Given the description of an element on the screen output the (x, y) to click on. 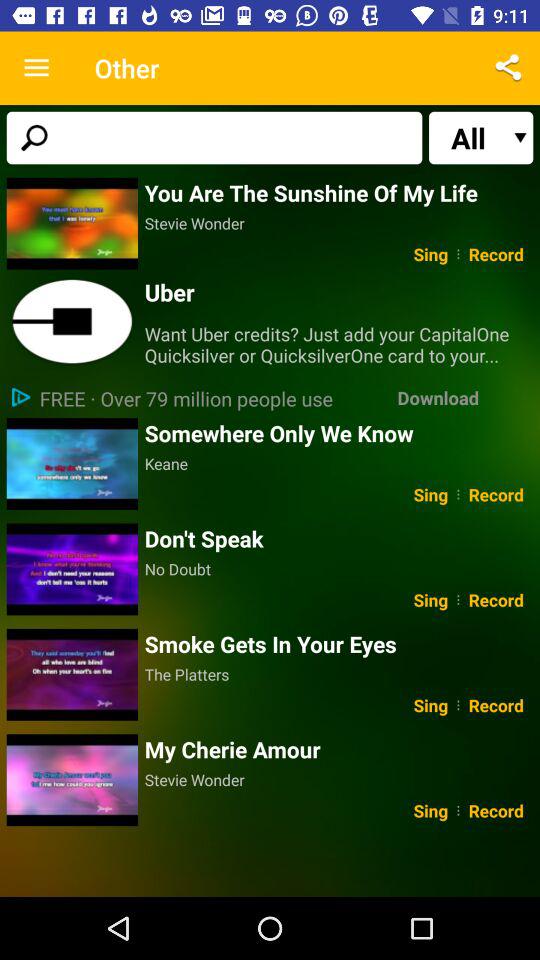
open the icon to the left of the all icon (214, 137)
